Given the description of an element on the screen output the (x, y) to click on. 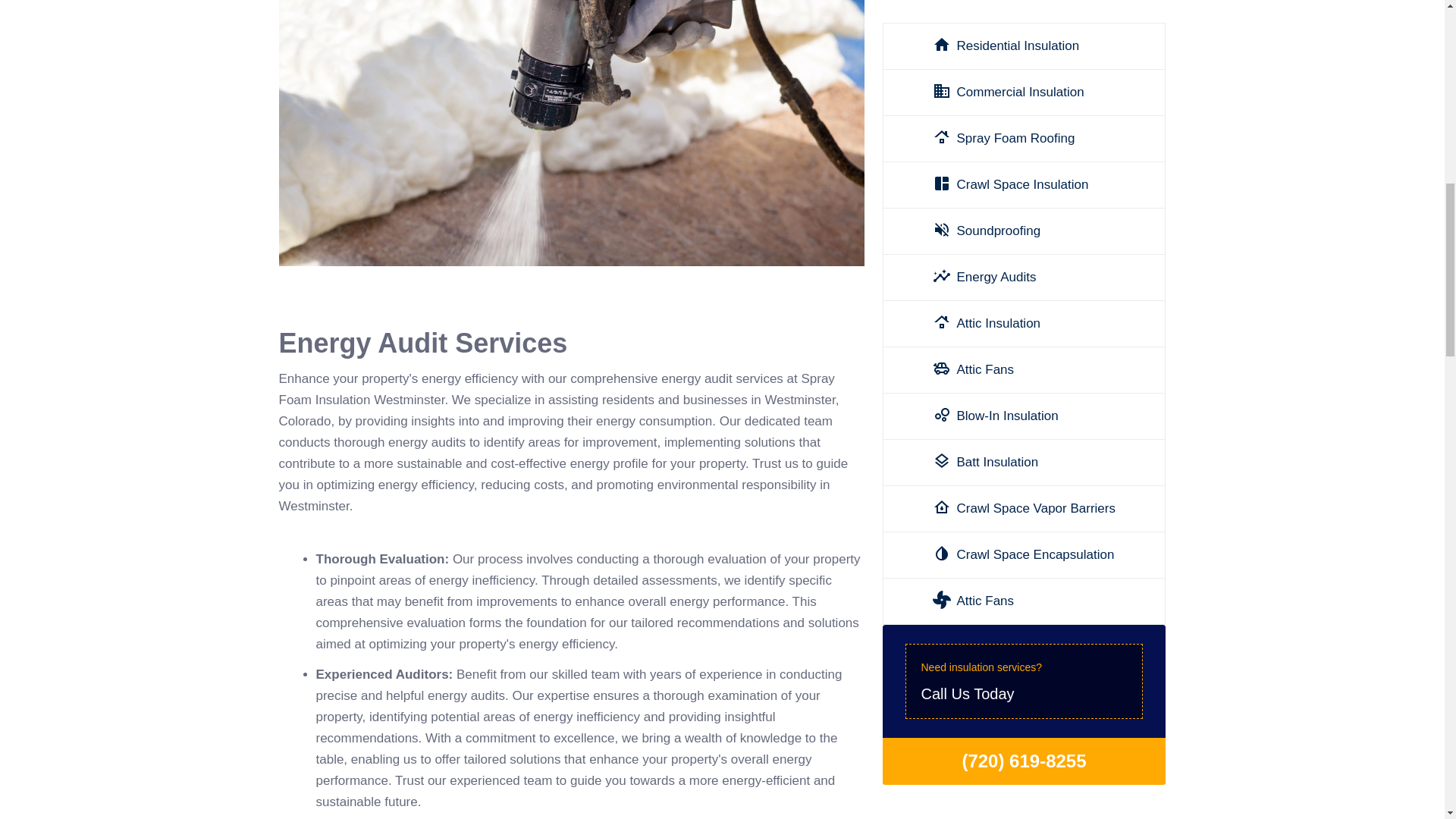
Spray Foam Roofing (1024, 7)
Attic Fans (1024, 222)
Crawl Space Vapor Barriers (1024, 360)
Energy Audits (1024, 129)
Attic Insulation (1024, 175)
Crawl Space Encapsulation (1024, 532)
Blow-In Insulation (1024, 407)
Crawl Space Insulation (1024, 267)
Attic Fans (1024, 36)
Batt Insulation (1024, 452)
Soundproofing (1024, 314)
